Given the description of an element on the screen output the (x, y) to click on. 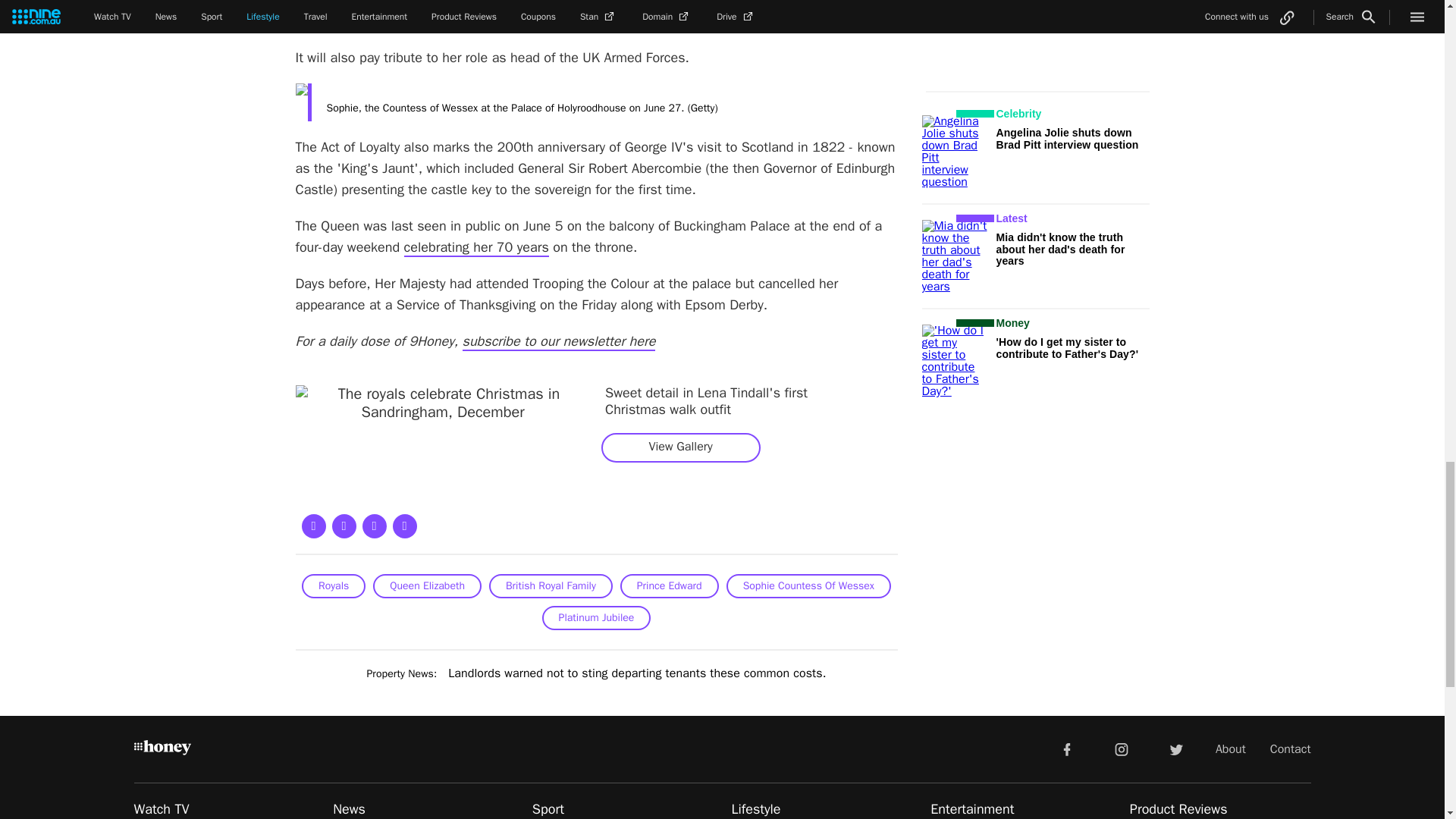
facebook (1066, 748)
instagram (1121, 748)
celebrating her 70 years (476, 248)
twitter (1175, 748)
